Given the description of an element on the screen output the (x, y) to click on. 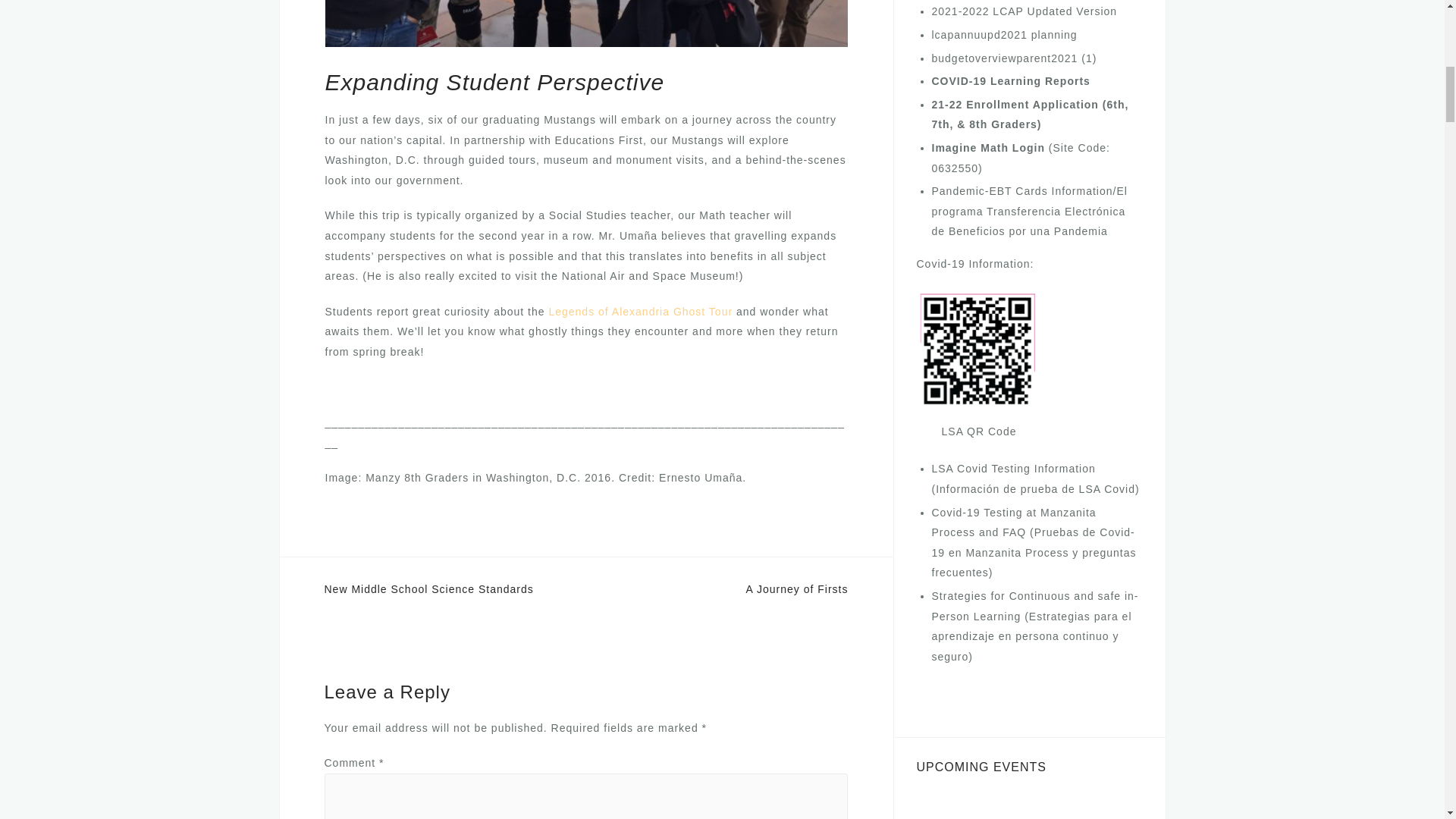
lcapannuupd2021 planning (1004, 34)
2021-2022 LCAP Updated Version (1023, 10)
Legends of Alexandria Ghost Tour (640, 311)
A Journey of Firsts (796, 589)
New Middle School Science Standards (429, 589)
